Given the description of an element on the screen output the (x, y) to click on. 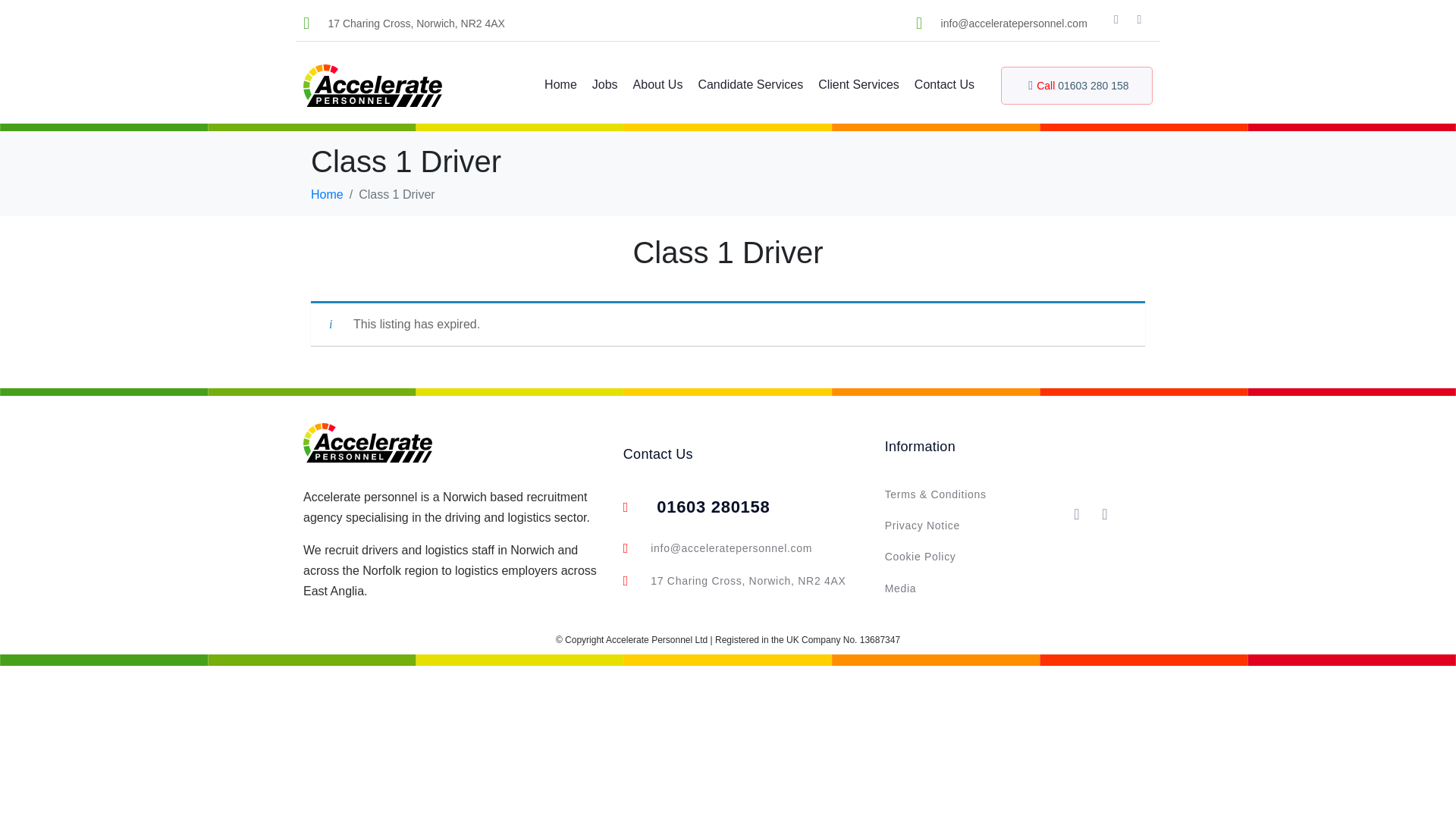
Accelerate Personnel Home Page (560, 85)
Home (327, 194)
Jobs (604, 85)
Home (560, 85)
Call 01603 280 158 (1077, 85)
Latest Jobs from Accelerate Personnel (604, 85)
Contact Us (944, 85)
Contact Accelerate Personnel (944, 85)
Candidate Services (750, 85)
01603 280158 (744, 506)
Client Services (857, 85)
About Us (657, 85)
